Given the description of an element on the screen output the (x, y) to click on. 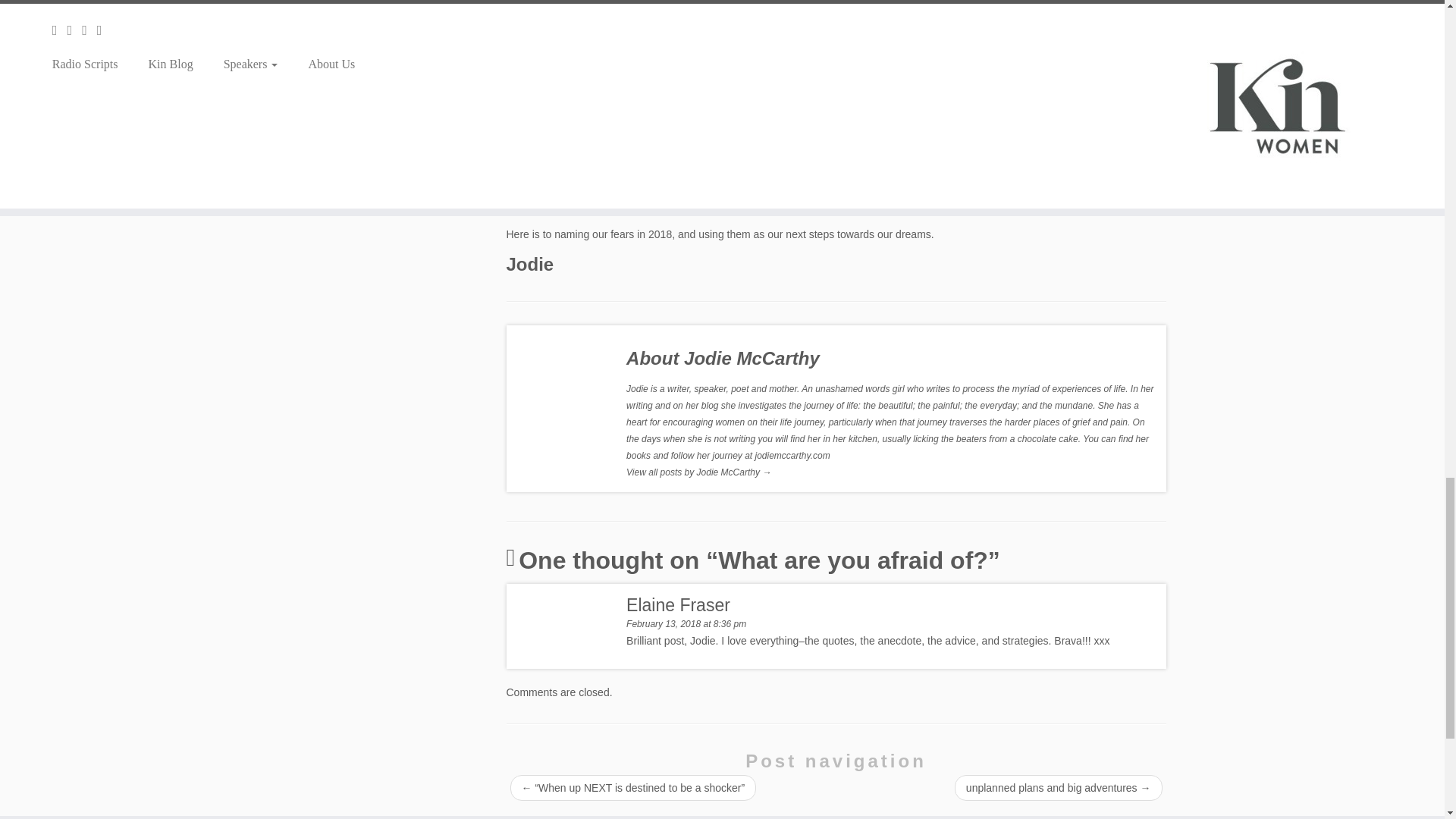
February 13, 2018 at 8:36 pm (685, 624)
Elaine Fraser (678, 605)
